Given the description of an element on the screen output the (x, y) to click on. 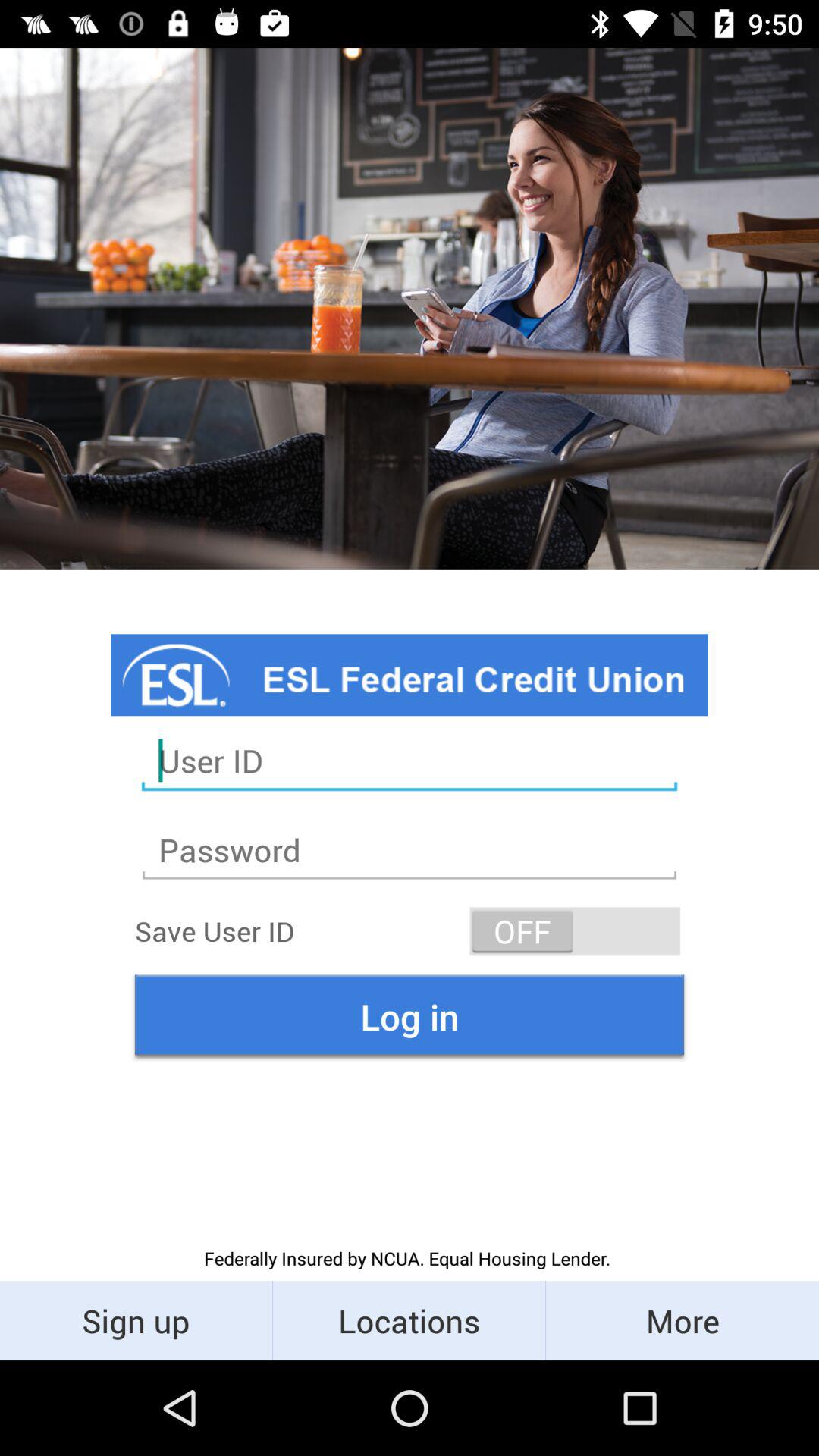
click on log in button (409, 1016)
select more (682, 1320)
go to user id (409, 761)
click on second text field (409, 849)
1st blue color tab below the image (409, 674)
radio button below second text field (574, 930)
